Given the description of an element on the screen output the (x, y) to click on. 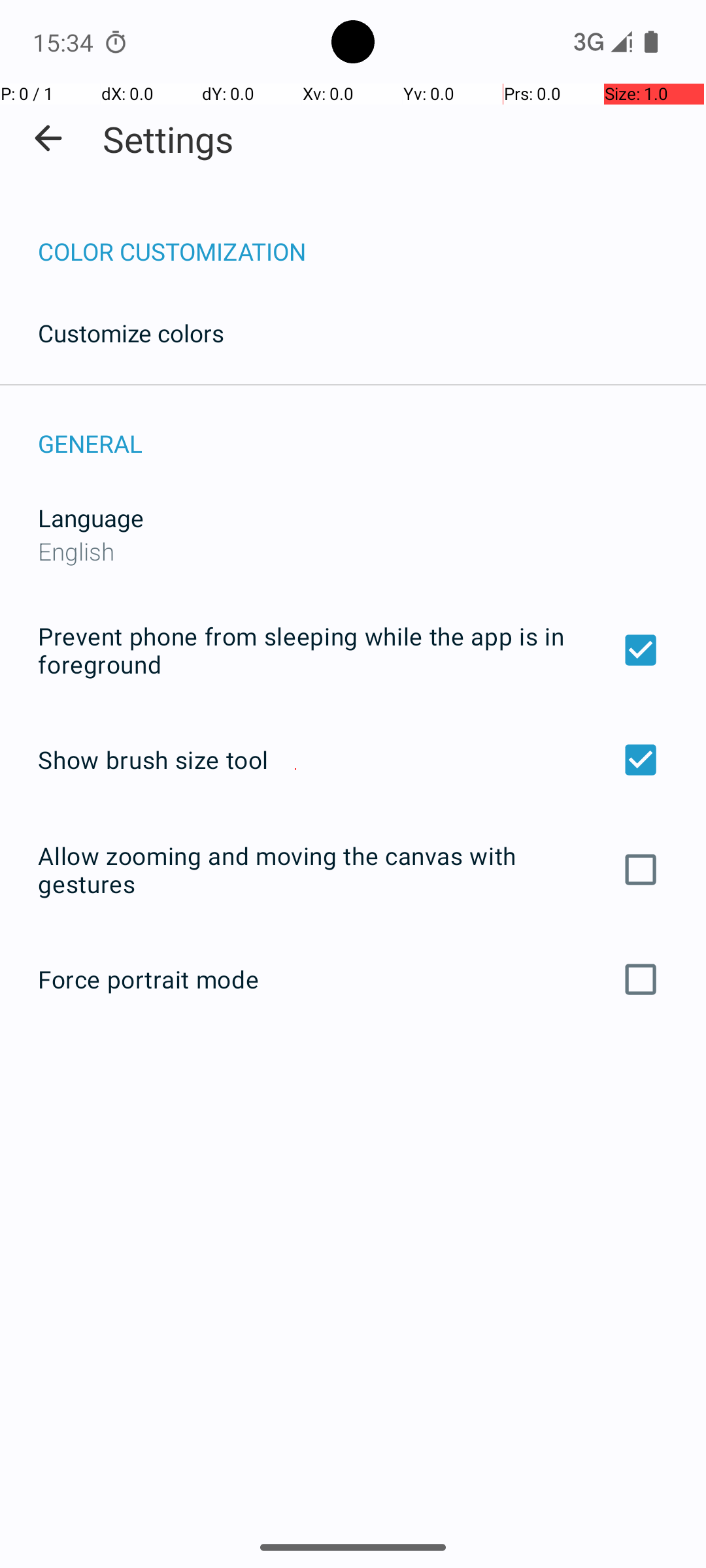
Prevent phone from sleeping while the app is in foreground Element type: android.widget.CheckBox (352, 649)
Show brush size tool Element type: android.widget.CheckBox (352, 759)
Allow zooming and moving the canvas with gestures Element type: android.widget.CheckBox (352, 869)
Force portrait mode Element type: android.widget.CheckBox (352, 979)
